Given the description of an element on the screen output the (x, y) to click on. 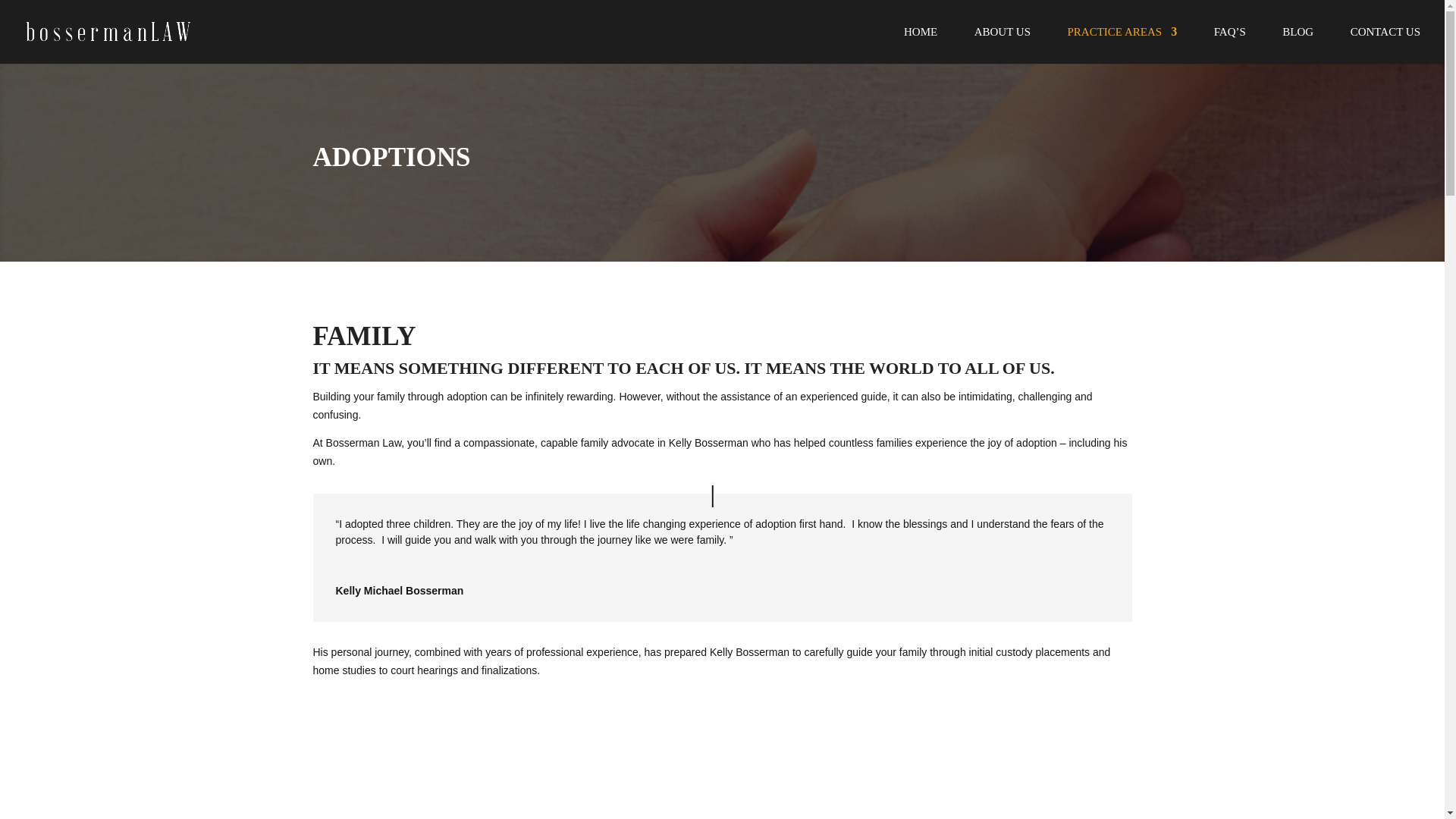
PRACTICE AREAS (1122, 44)
ABOUT US (1002, 44)
CONTACT US (1386, 44)
HOME (920, 44)
